Given the description of an element on the screen output the (x, y) to click on. 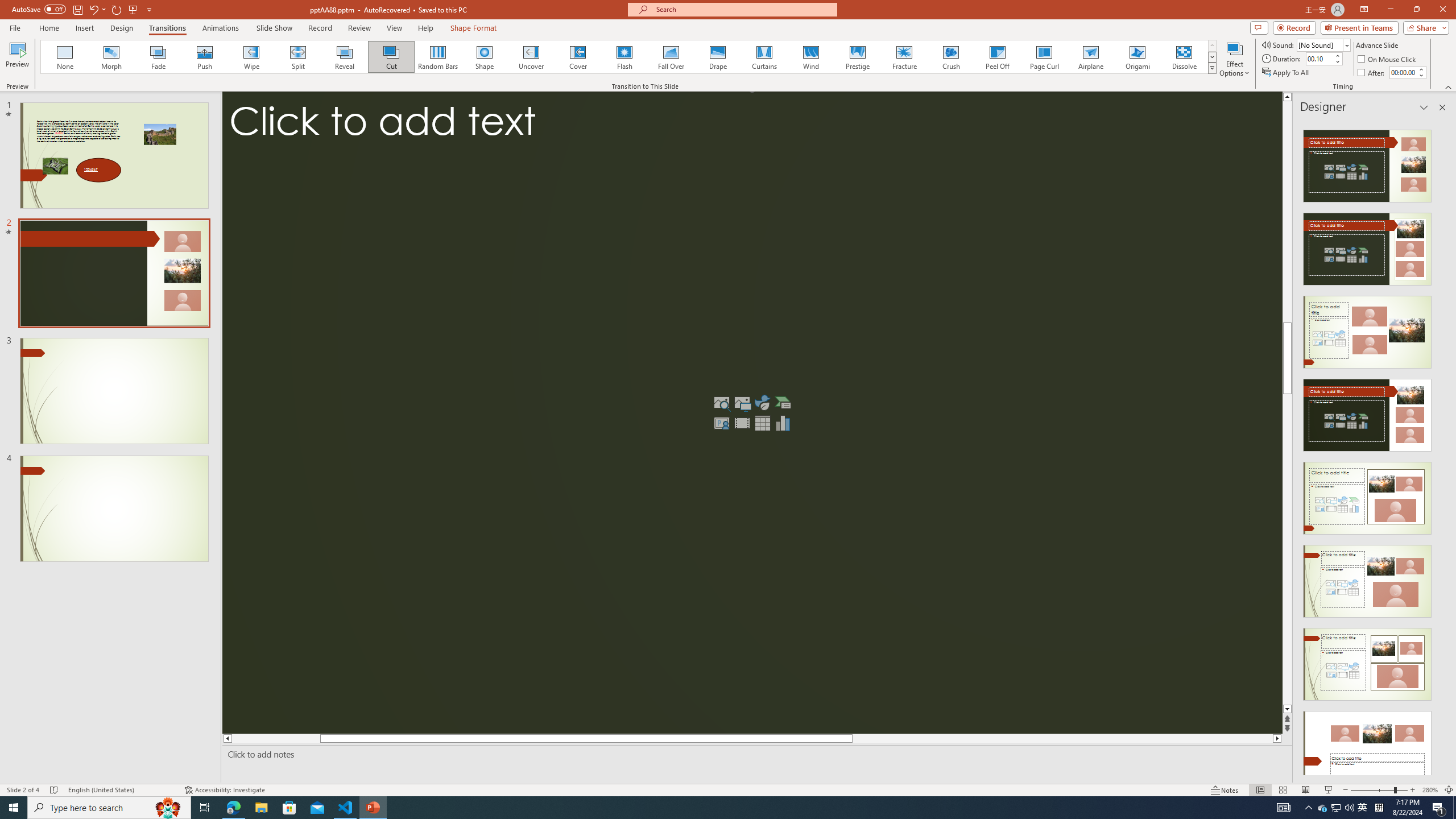
Insert Cameo (720, 423)
Split (298, 56)
Cover (577, 56)
